Given the description of an element on the screen output the (x, y) to click on. 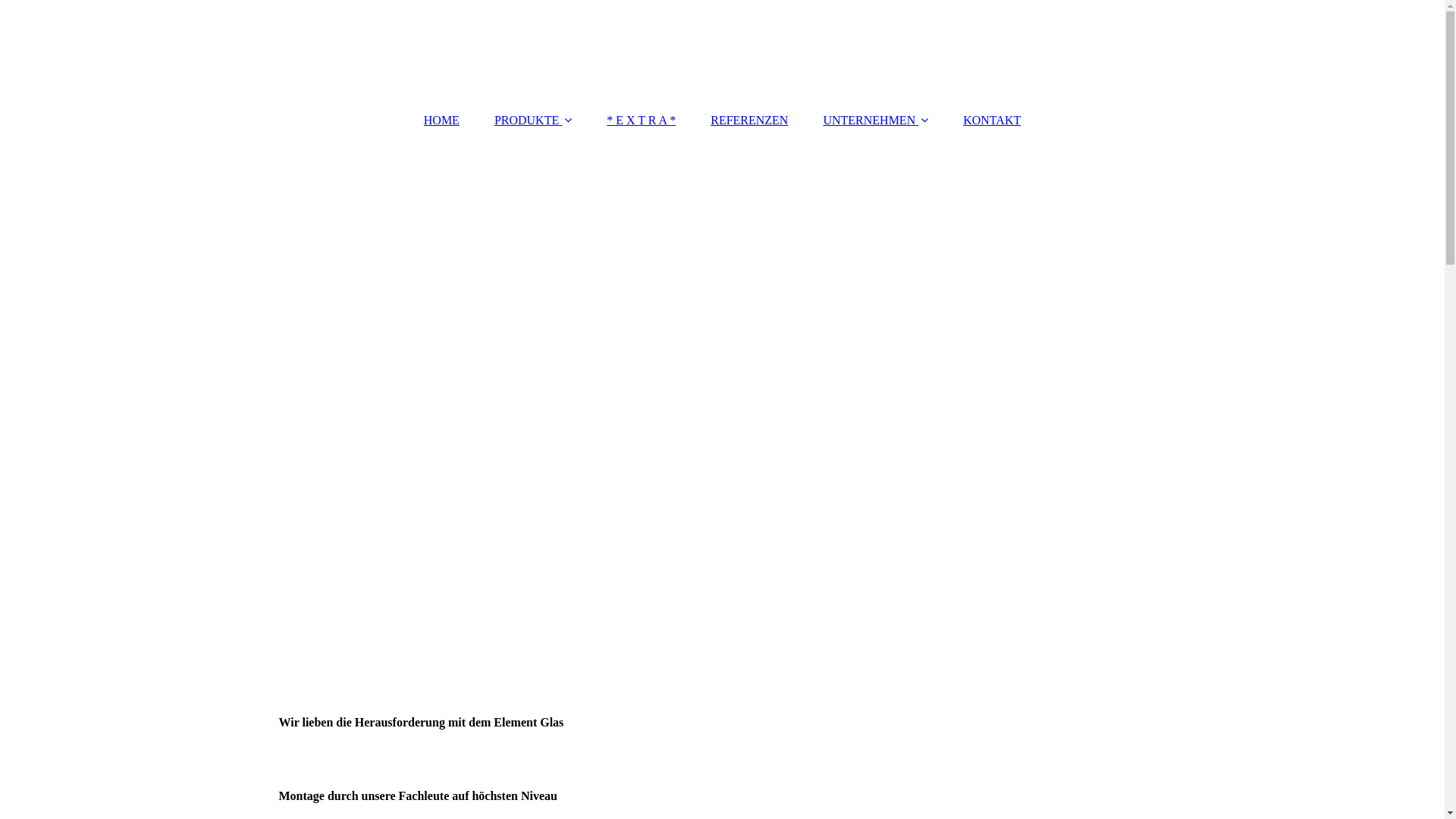
PRODUKTE Element type: text (532, 120)
* E X T R A * Element type: text (640, 120)
UNTERNEHMEN Element type: text (875, 120)
HOME Element type: text (441, 120)
KONTAKT Element type: text (991, 120)
REFERENZEN Element type: text (749, 120)
